Given the description of an element on the screen output the (x, y) to click on. 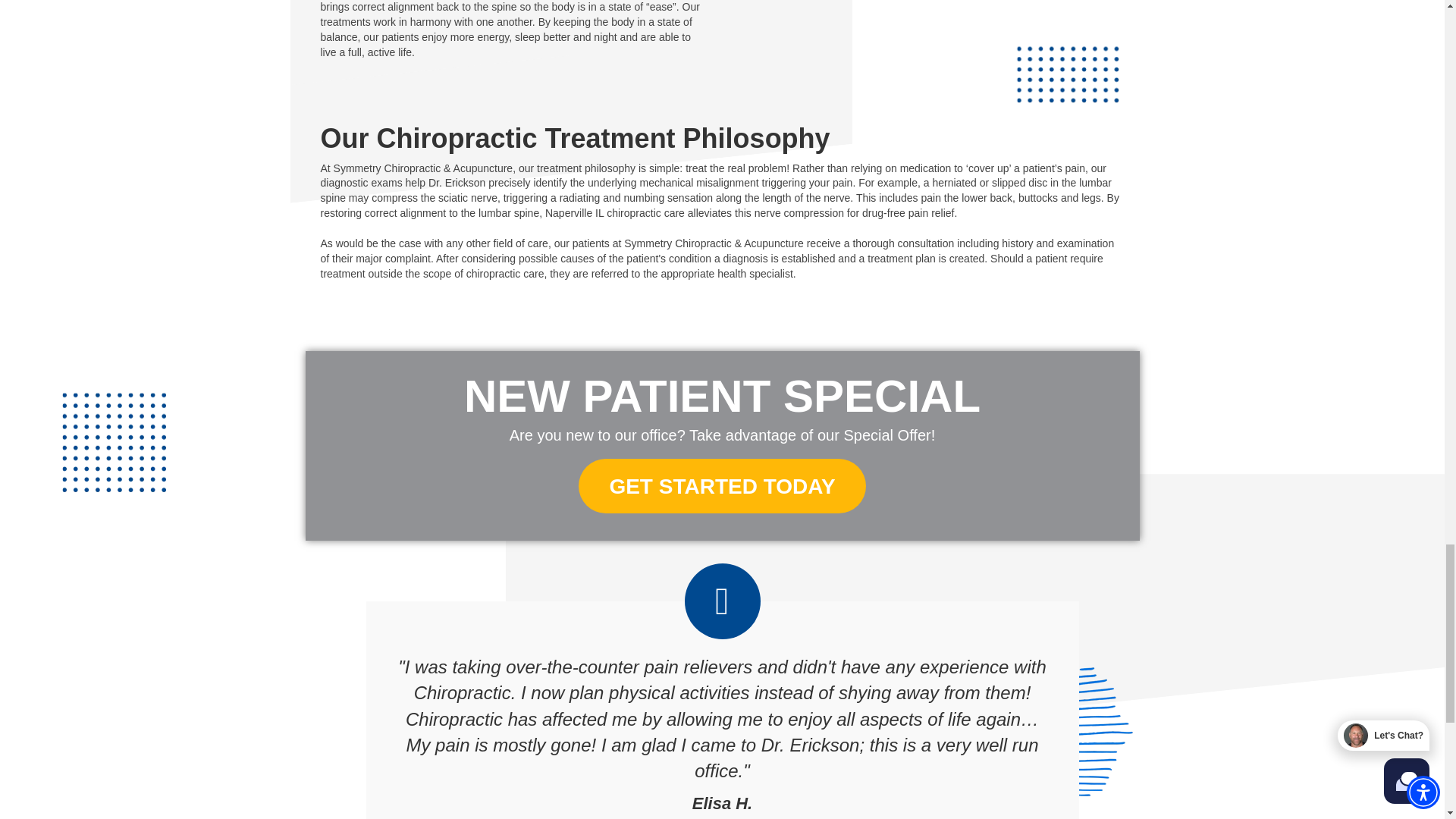
Chiropractic Naperville IL Front of Office (930, 54)
